Given the description of an element on the screen output the (x, y) to click on. 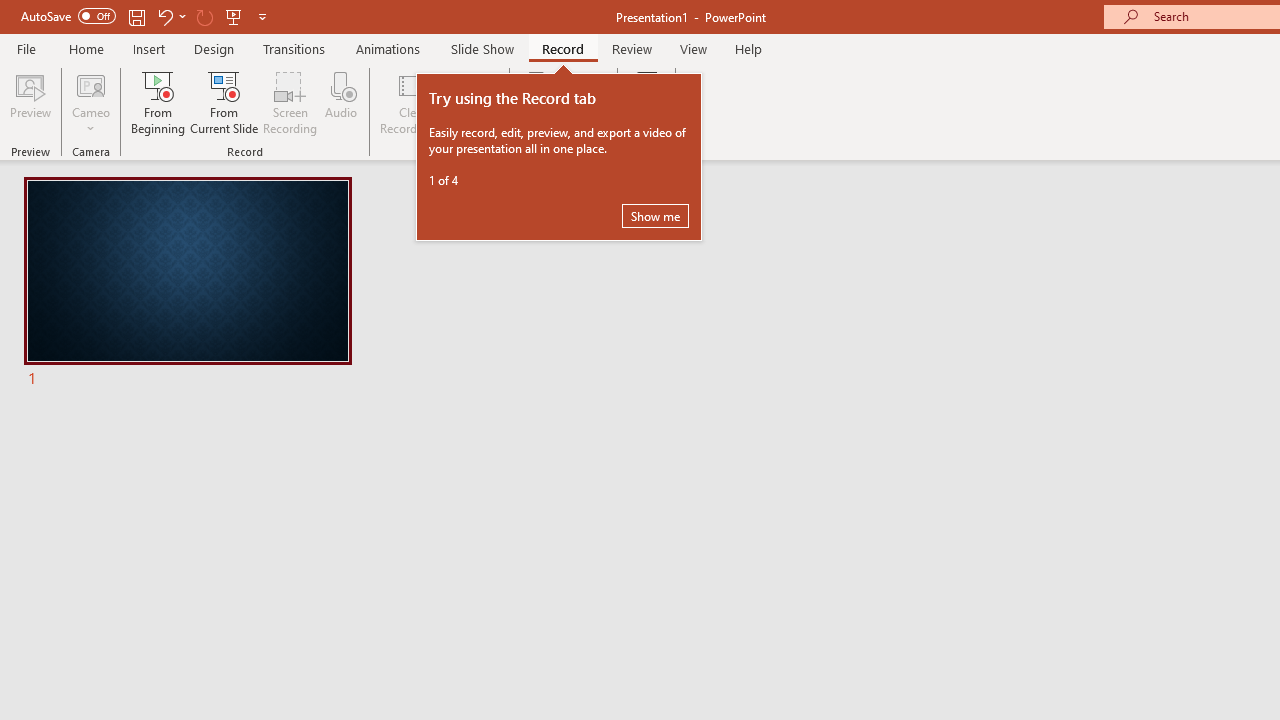
Learn More (646, 102)
Save as Show (539, 102)
From Beginning... (158, 102)
Clear Recording (412, 102)
